Given the description of an element on the screen output the (x, y) to click on. 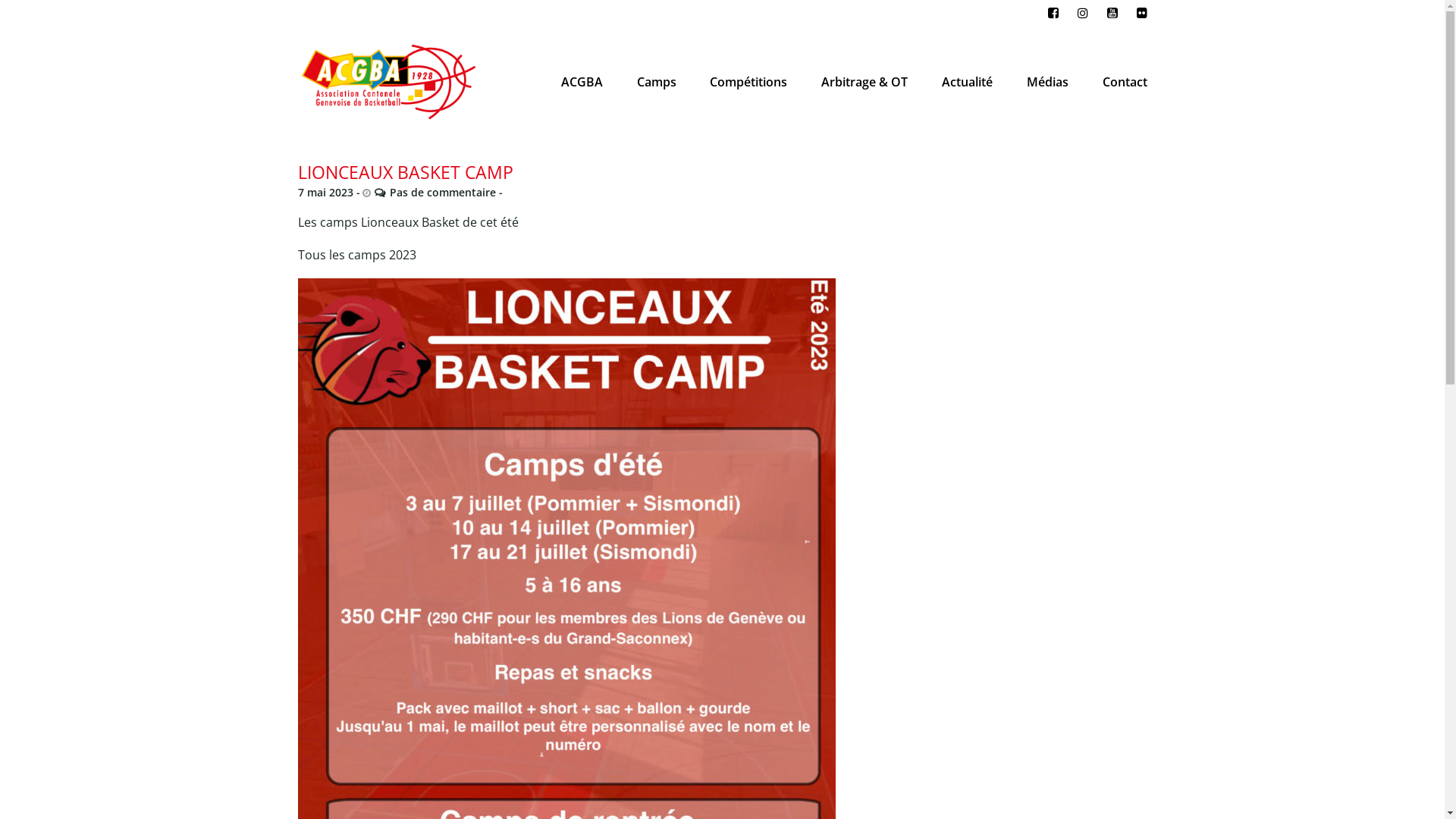
Contact Element type: text (1123, 81)
Pas de commentaire Element type: text (434, 192)
ACGBA Element type: text (581, 81)
Arbitrage & OT Element type: text (864, 81)
Camps Element type: text (656, 81)
